Given the description of an element on the screen output the (x, y) to click on. 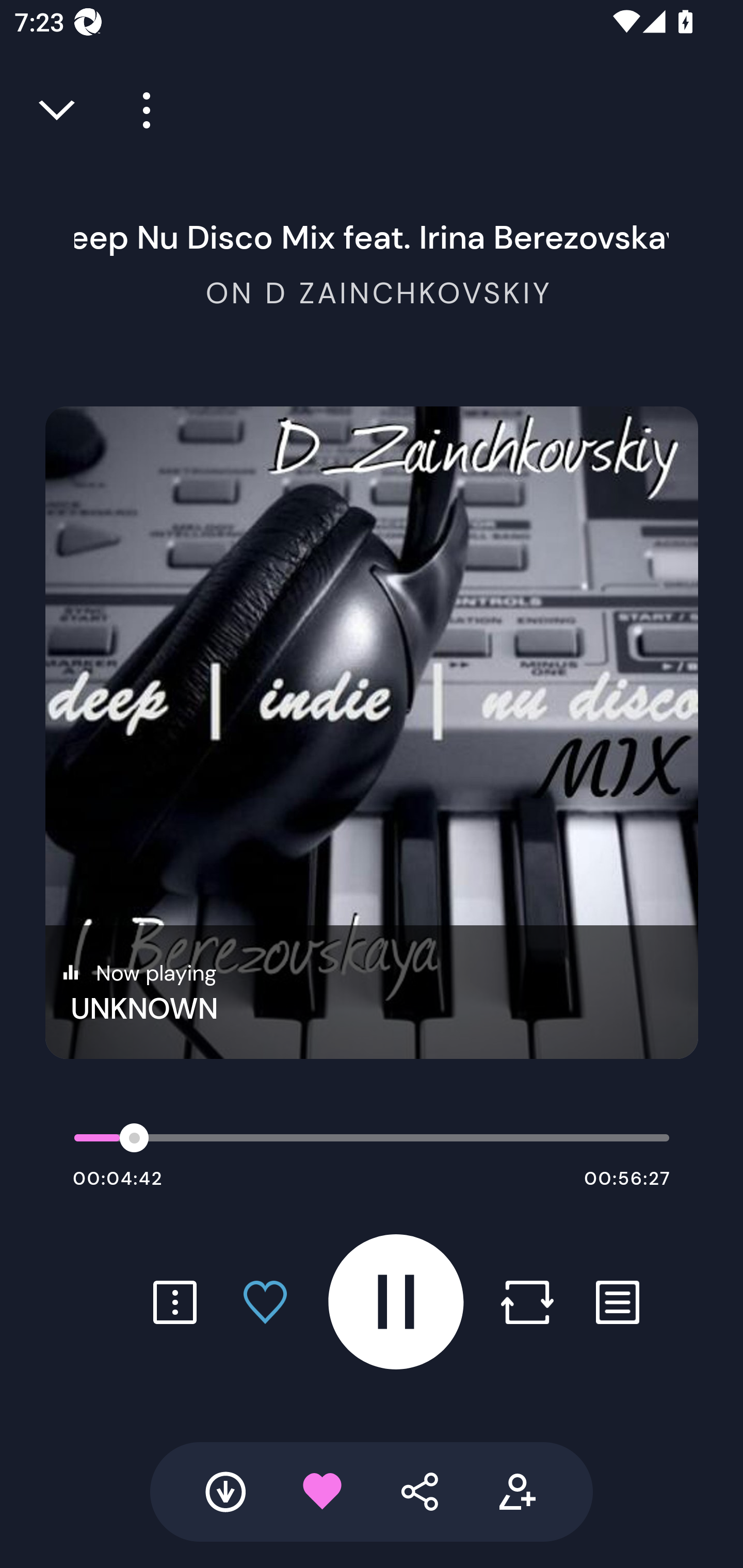
Close full player (58, 110)
Player more options button (139, 110)
Repost button (527, 1301)
